Given the description of an element on the screen output the (x, y) to click on. 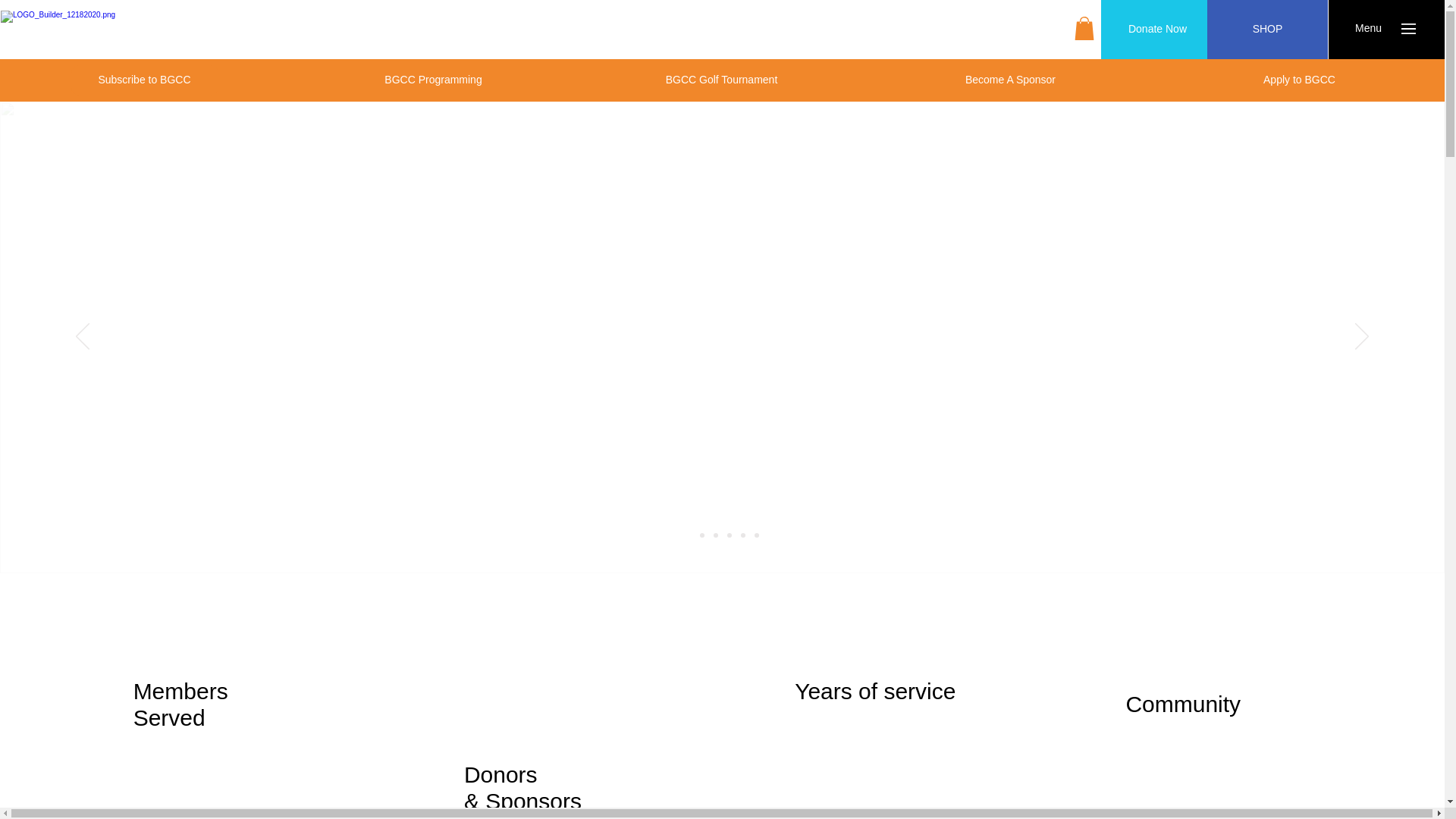
Menu (1368, 28)
BGCC Programming (432, 80)
Become A Sponsor (1010, 80)
Donate Now (1157, 29)
Apply to BGCC (1299, 80)
BGCC Golf Tournament (720, 80)
Subscribe to BGCC (144, 80)
SHOP (1267, 29)
